Given the description of an element on the screen output the (x, y) to click on. 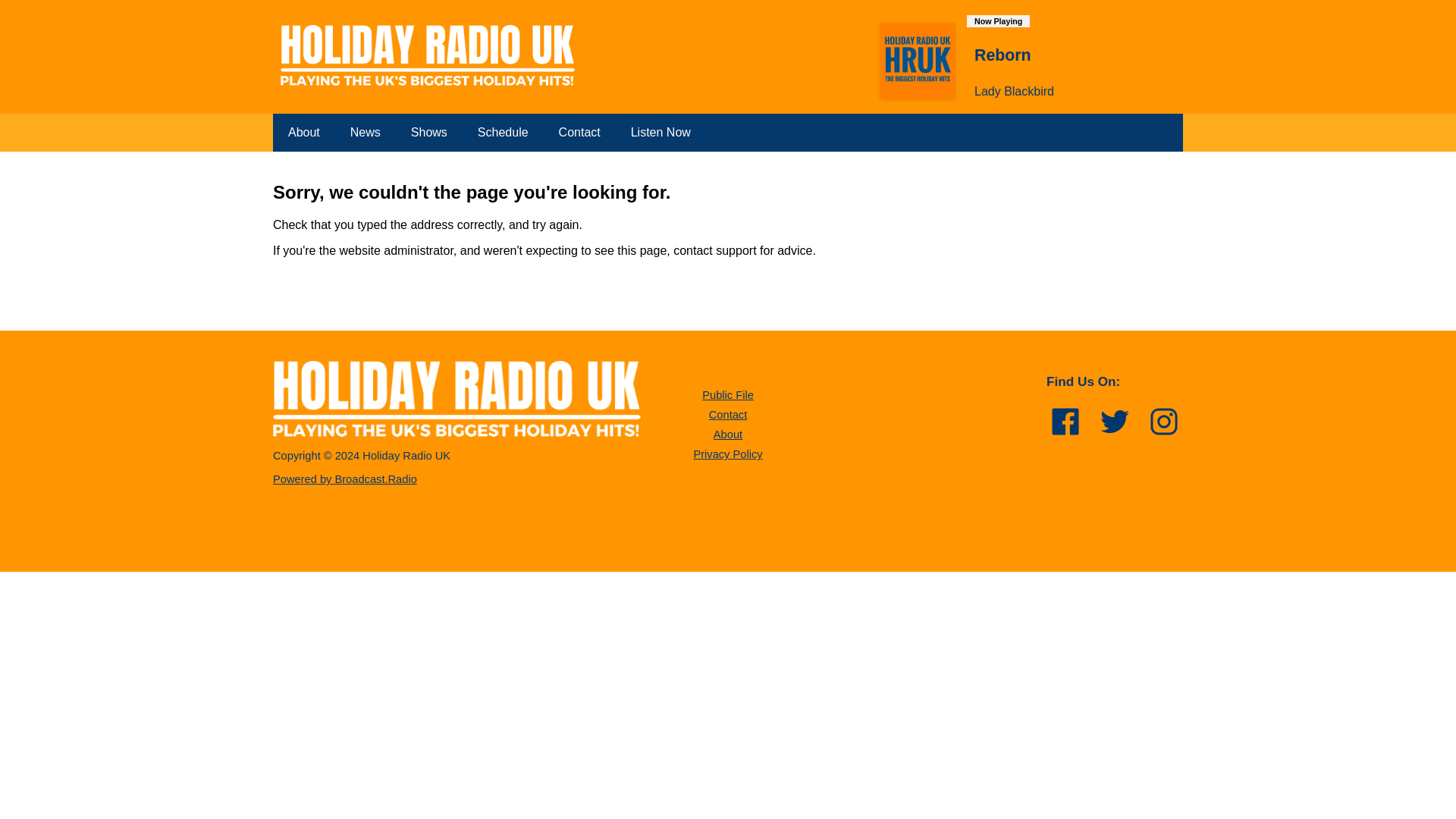
Public File (727, 395)
News (365, 132)
Listen Now (660, 132)
Contact (579, 132)
News (365, 132)
About (303, 132)
Shows (429, 132)
Listen Now (660, 132)
Powered by Broadcast.Radio (344, 479)
Shows (429, 132)
Contact (728, 414)
Contact (579, 132)
Schedule (503, 132)
About (727, 434)
About (303, 132)
